Given the description of an element on the screen output the (x, y) to click on. 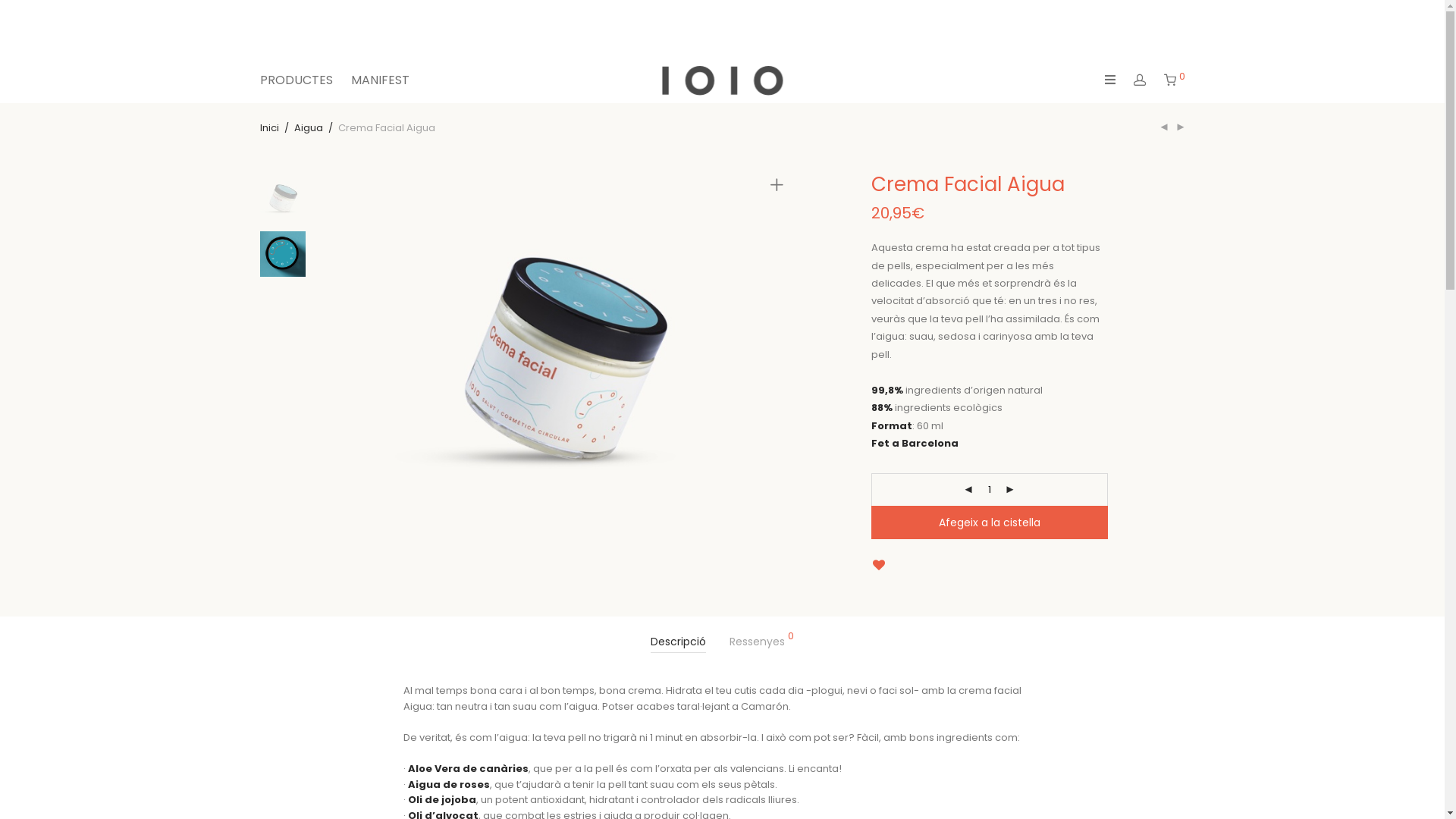
PRODUCTES Element type: text (295, 80)
Inici Element type: text (268, 128)
cremafacial-680x500-OFF Element type: hover (561, 338)
Ressenyes 0 Element type: text (761, 641)
Aigua Element type: text (308, 128)
Afegeix a la cistella Element type: text (989, 522)
0 Element type: text (1173, 80)
Add to Wishlist Element type: hover (878, 564)
MANIFEST Element type: text (379, 80)
